Given the description of an element on the screen output the (x, y) to click on. 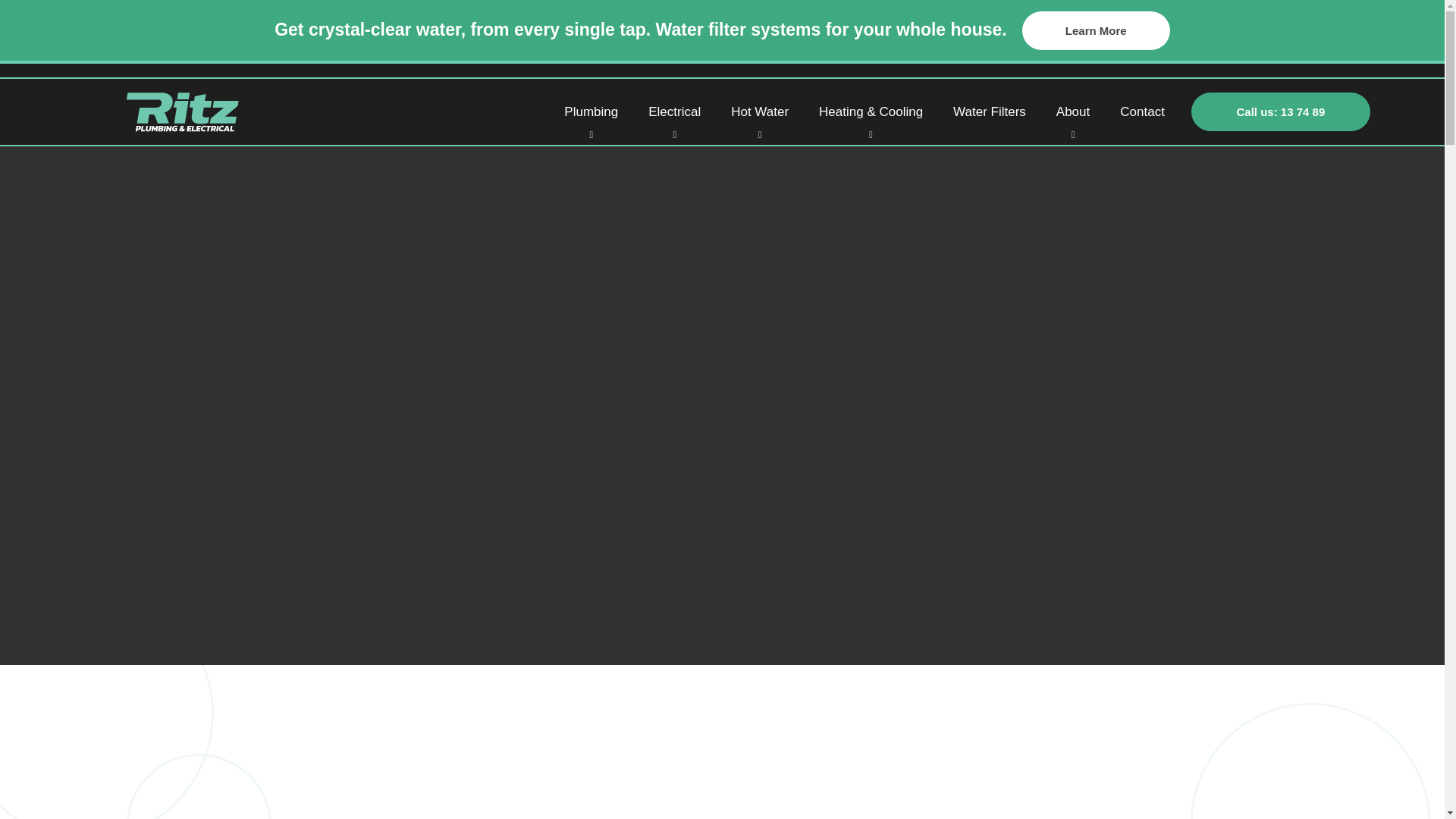
Water Filters (989, 111)
Learn More (1096, 29)
Call us: 13 74 89 (1280, 111)
